Given the description of an element on the screen output the (x, y) to click on. 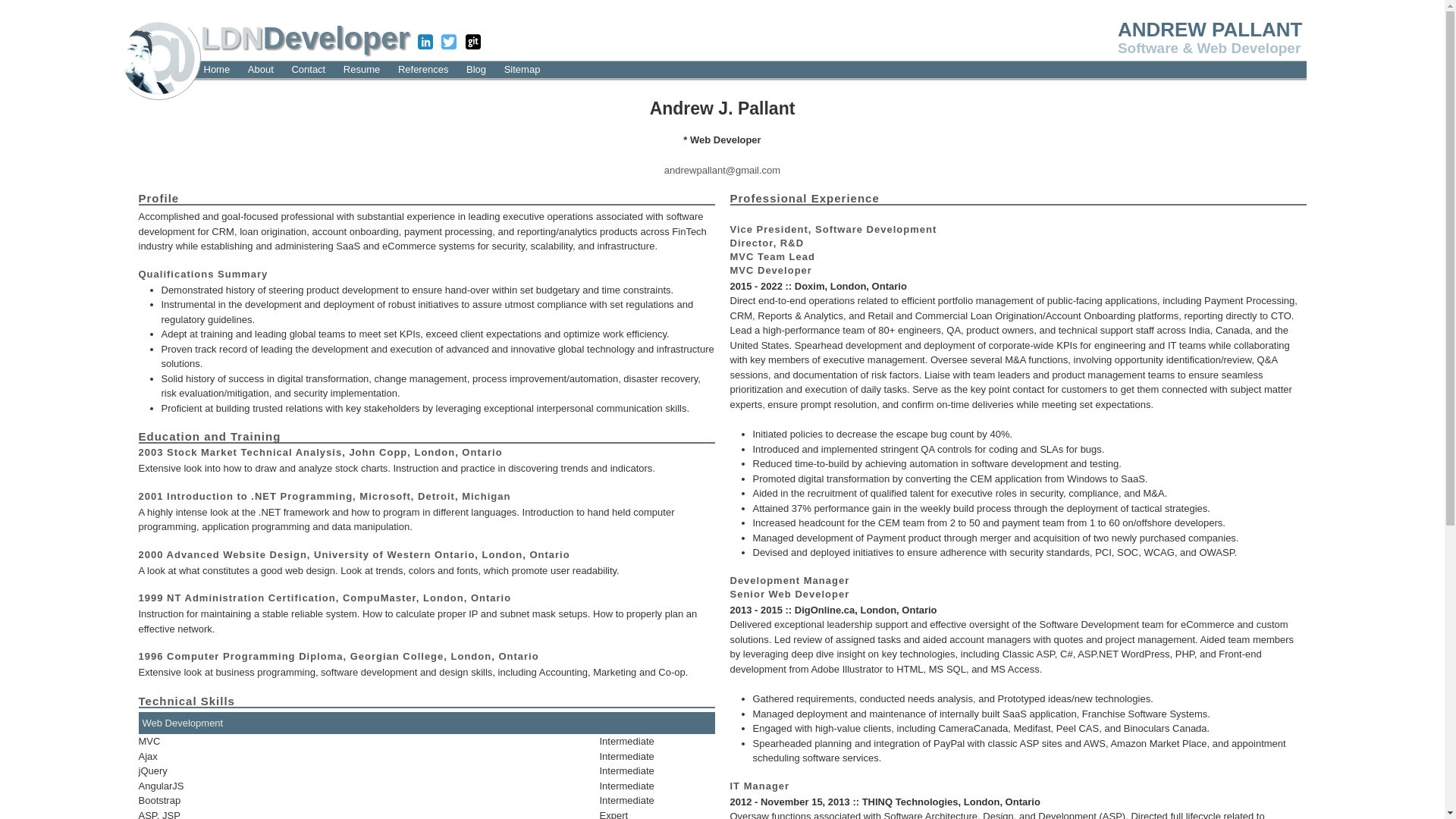
Click For My Twitter Profile Element type: hover (448, 42)
Contact Element type: text (308, 69)
Blog Element type: text (476, 69)
Home Element type: text (216, 69)
About Element type: text (260, 69)
Click For My GitHub Profile Element type: hover (472, 42)
References Element type: text (423, 69)
Resume Element type: text (361, 69)
Click For My LinkedIn Profile Element type: hover (425, 42)
Sitemap Element type: text (522, 69)
andrewpallant@gmail.com Element type: text (722, 169)
Click to visit the home of Andrew Pallant @LdnDeveloper Element type: hover (157, 56)
